Given the description of an element on the screen output the (x, y) to click on. 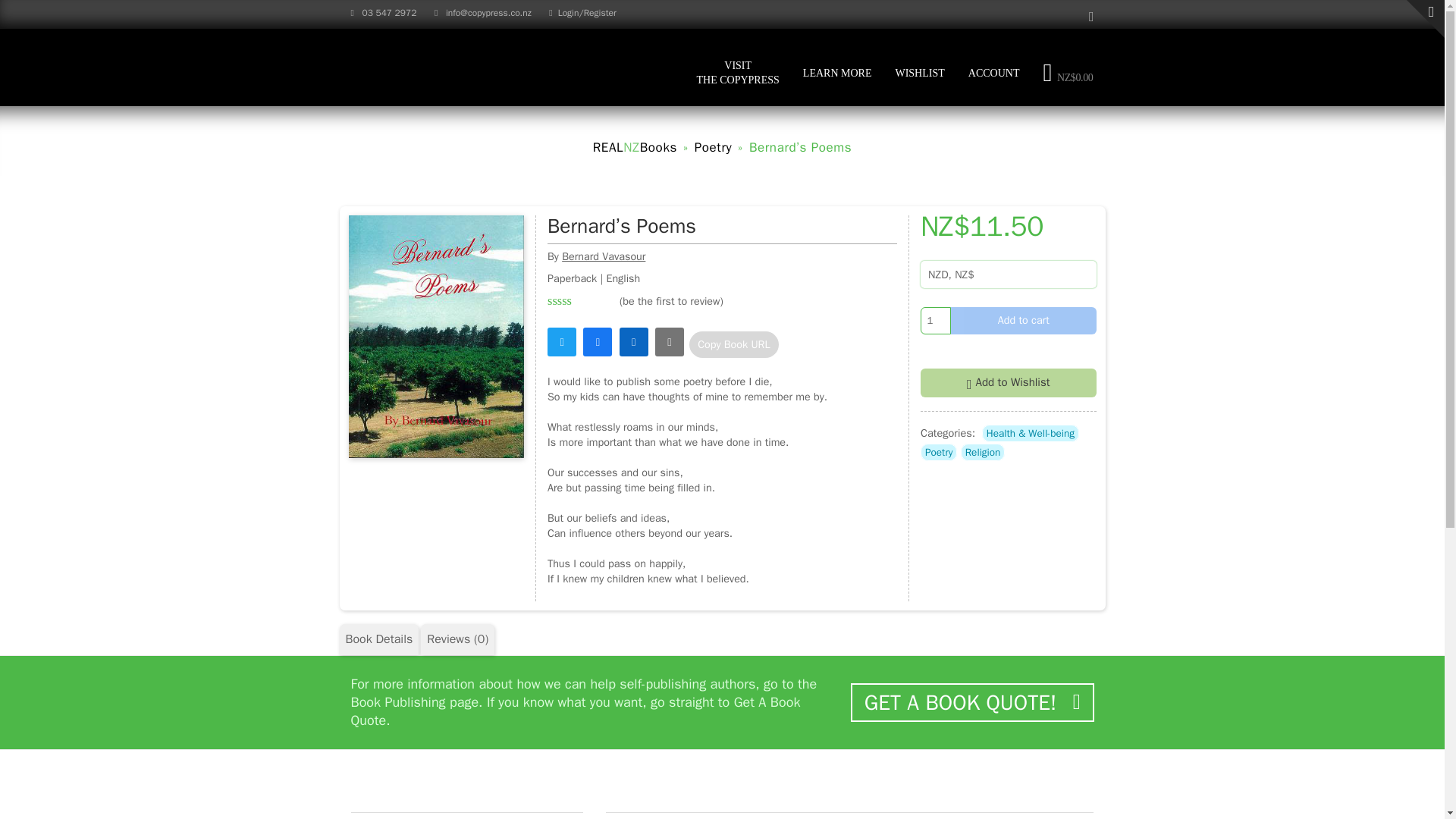
Religion (983, 452)
Copy Book URL (732, 344)
Add to cart (1023, 320)
LEARN MORE (737, 72)
REALNZBooks (837, 72)
Bernard Vavasour (634, 147)
be the first to review (603, 255)
Poetry (671, 300)
Poetry (713, 147)
GET A BOOK QUOTE! (938, 452)
Book Details (971, 702)
1 (379, 639)
Add to Wishlist (935, 320)
